Given the description of an element on the screen output the (x, y) to click on. 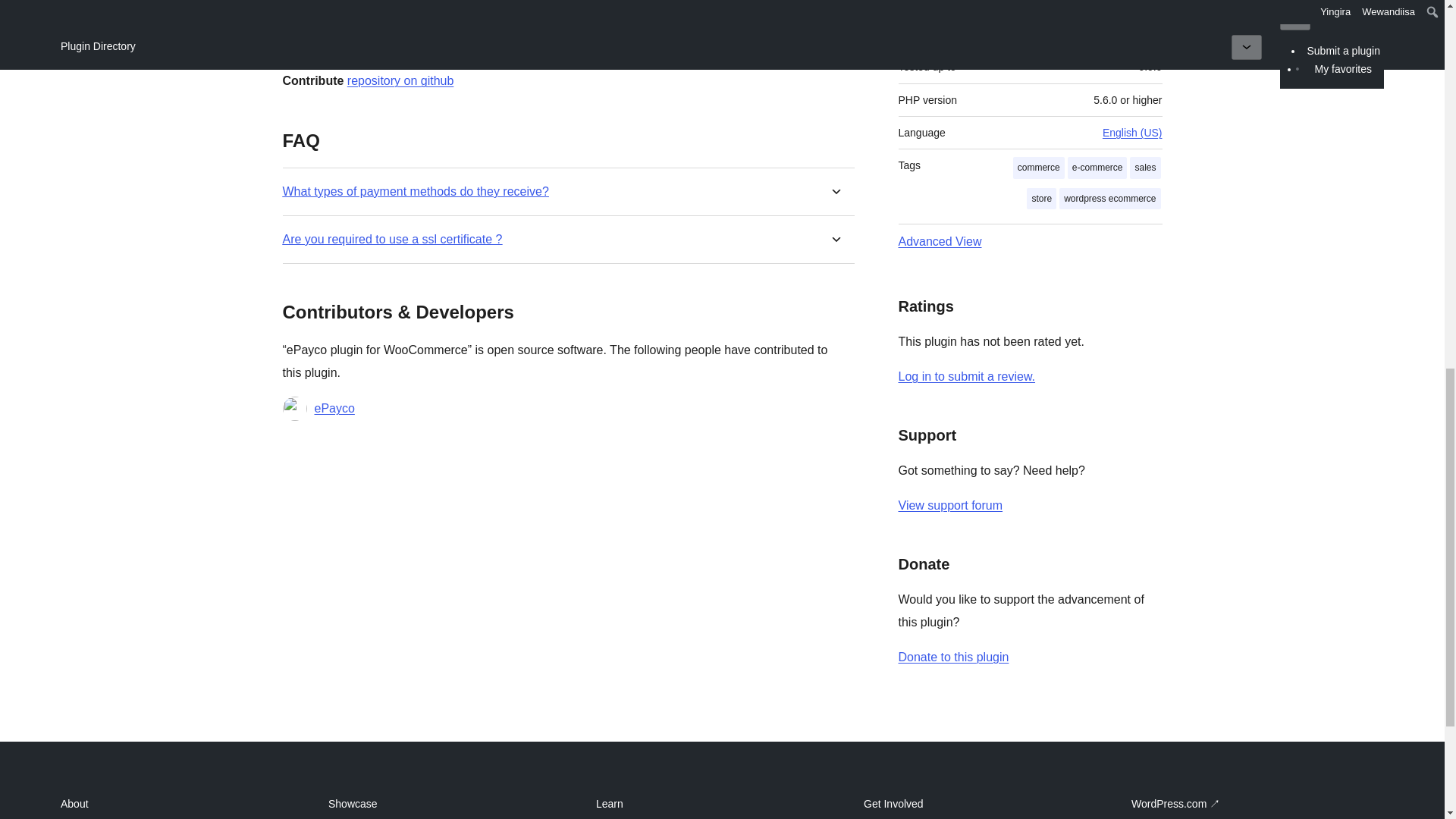
Log in to WordPress.org (966, 376)
repository on github (400, 80)
Are you required to use a ssl certificate ? (392, 238)
What types of payment methods do they receive? (415, 191)
ePayco (333, 408)
